Given the description of an element on the screen output the (x, y) to click on. 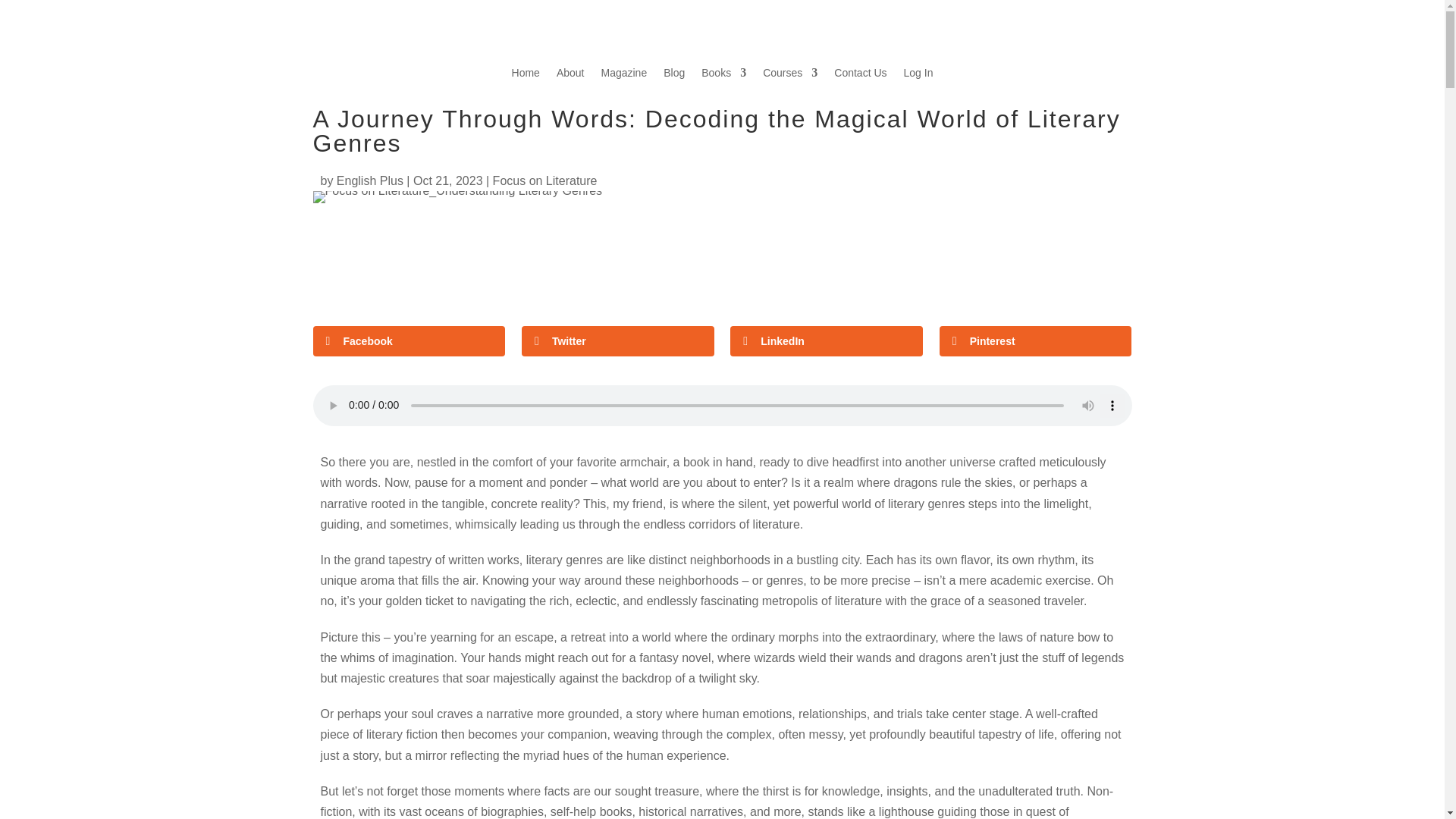
Home (526, 75)
Courses (789, 75)
Magazine (622, 75)
About (570, 75)
Contact Us (860, 75)
English Plus (369, 180)
Focus on Literature (544, 180)
Facebook (409, 340)
Blog (673, 75)
LinkedIn (826, 340)
Log In (918, 75)
Posts by English Plus (369, 180)
Twitter (617, 340)
Books (723, 75)
Pinterest (1035, 340)
